Given the description of an element on the screen output the (x, y) to click on. 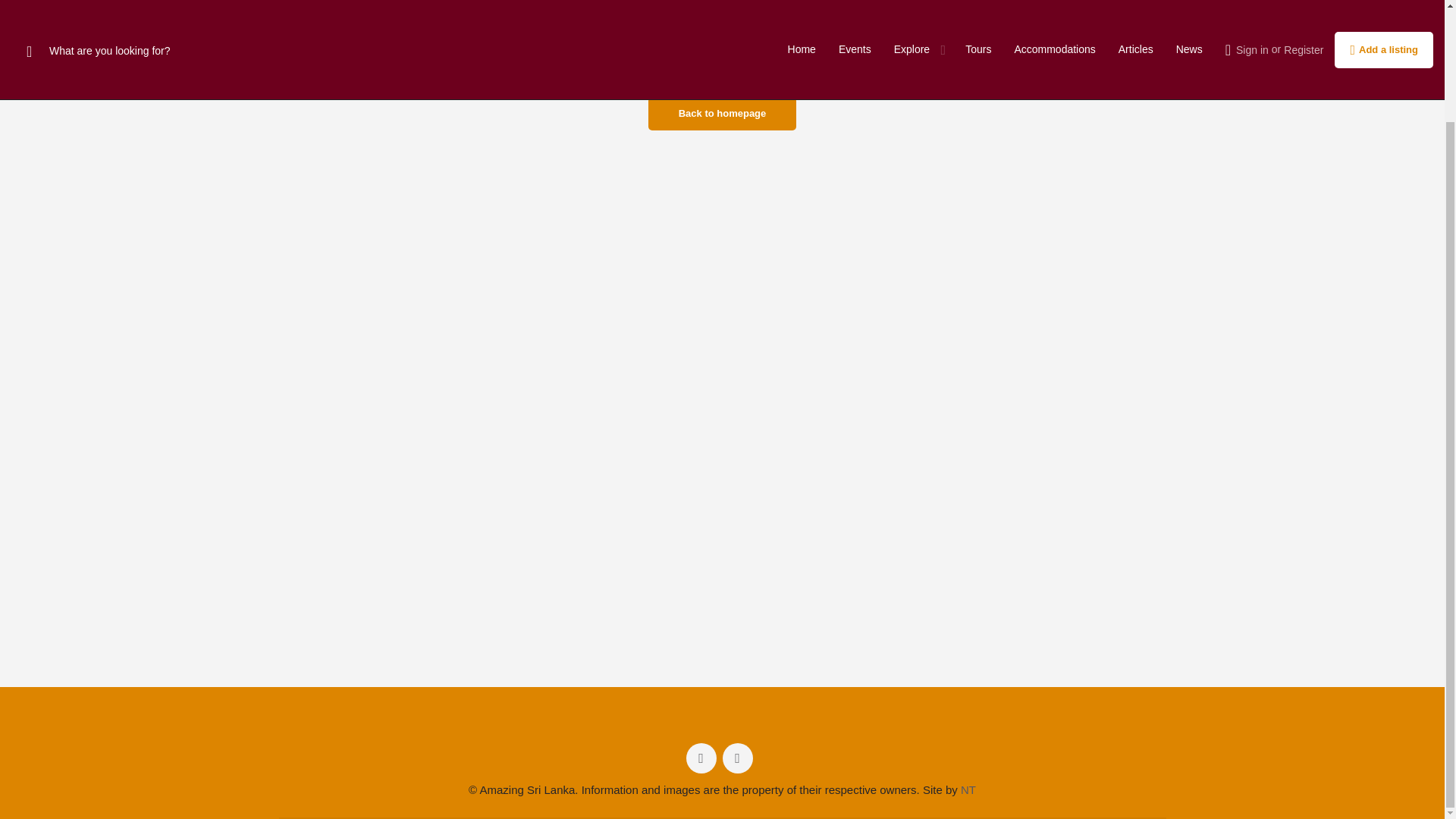
Back to homepage (721, 113)
NT (967, 789)
